Given the description of an element on the screen output the (x, y) to click on. 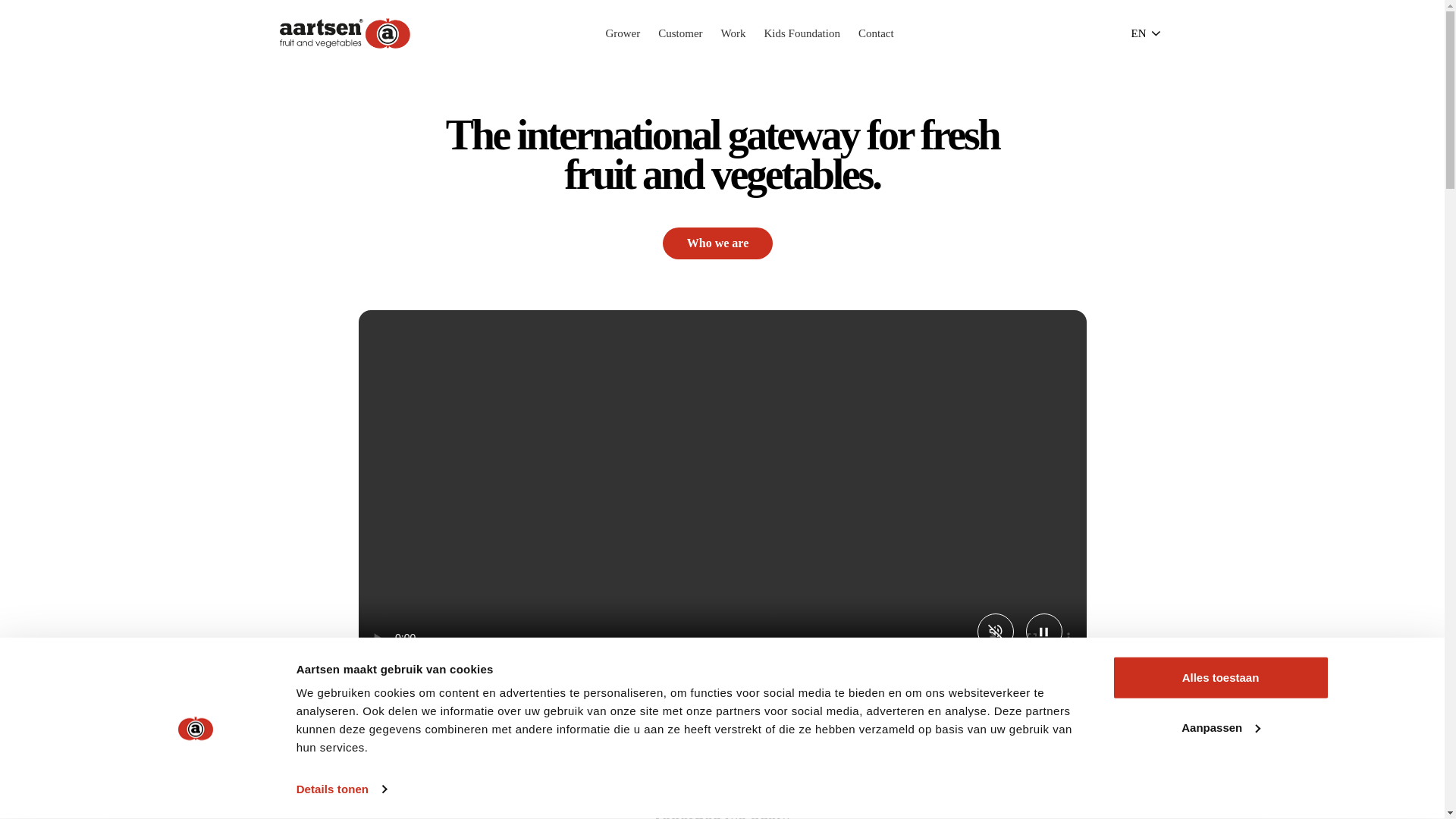
Details tonen (342, 789)
